Given the description of an element on the screen output the (x, y) to click on. 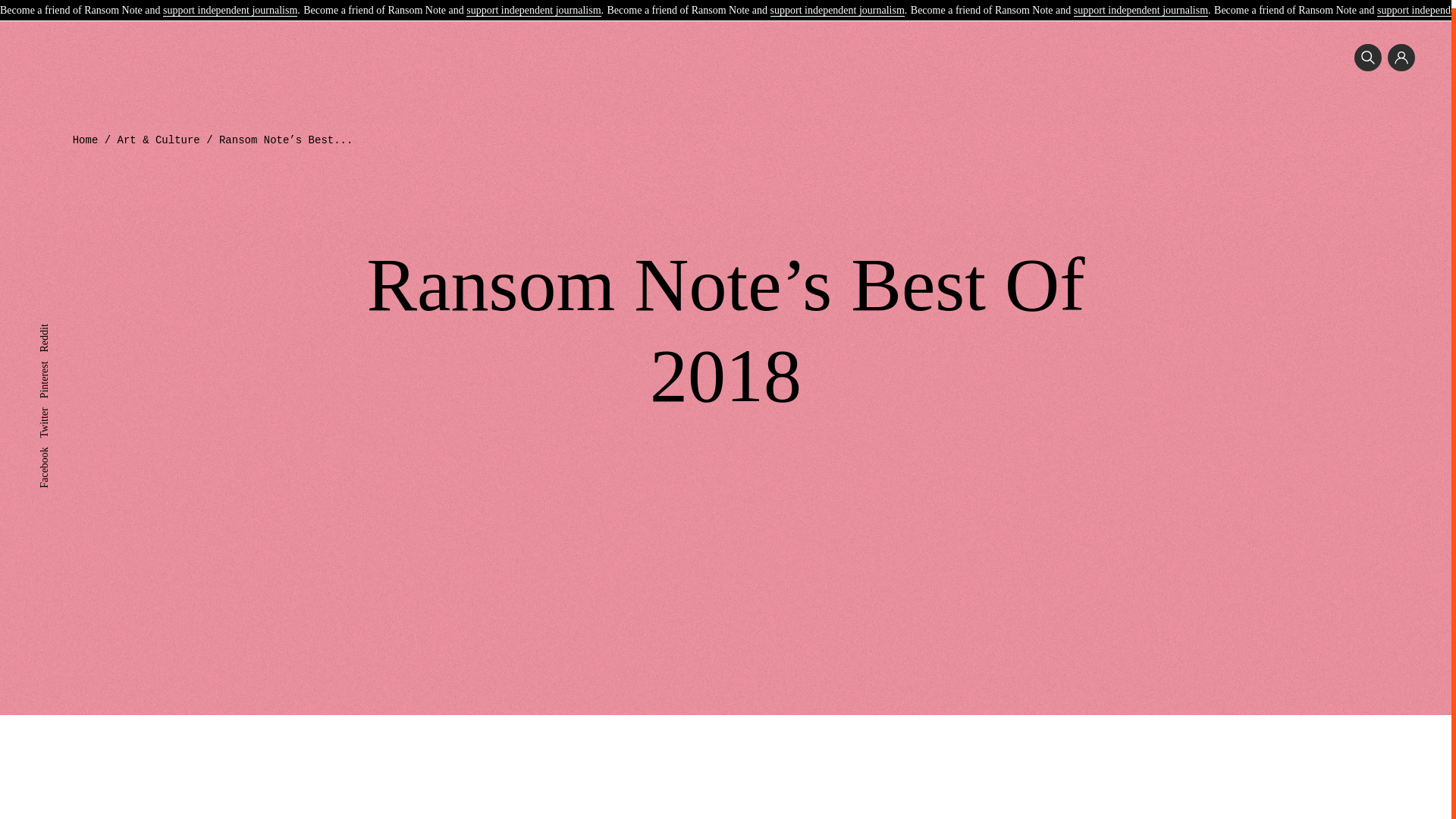
support independent journalism (230, 4)
Home (85, 140)
Pinterest (57, 358)
Facebook (59, 444)
support independent journalism (1141, 4)
support independent journalism (532, 4)
support independent journalism (837, 4)
Reddit (52, 321)
Twitter (53, 404)
